Given the description of an element on the screen output the (x, y) to click on. 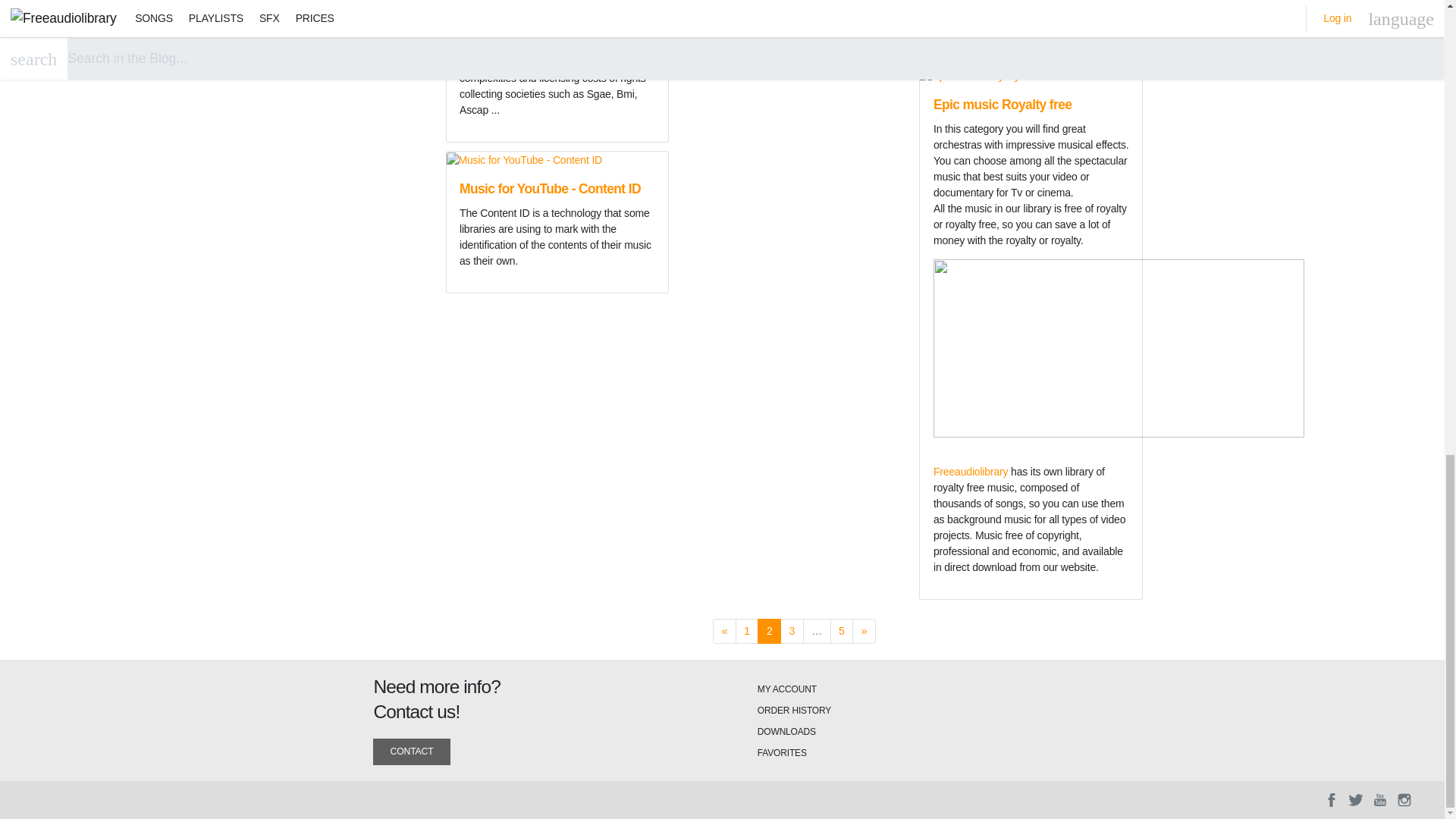
My account (786, 688)
Order history (794, 710)
Downloads (786, 731)
Favorites (781, 752)
